Given the description of an element on the screen output the (x, y) to click on. 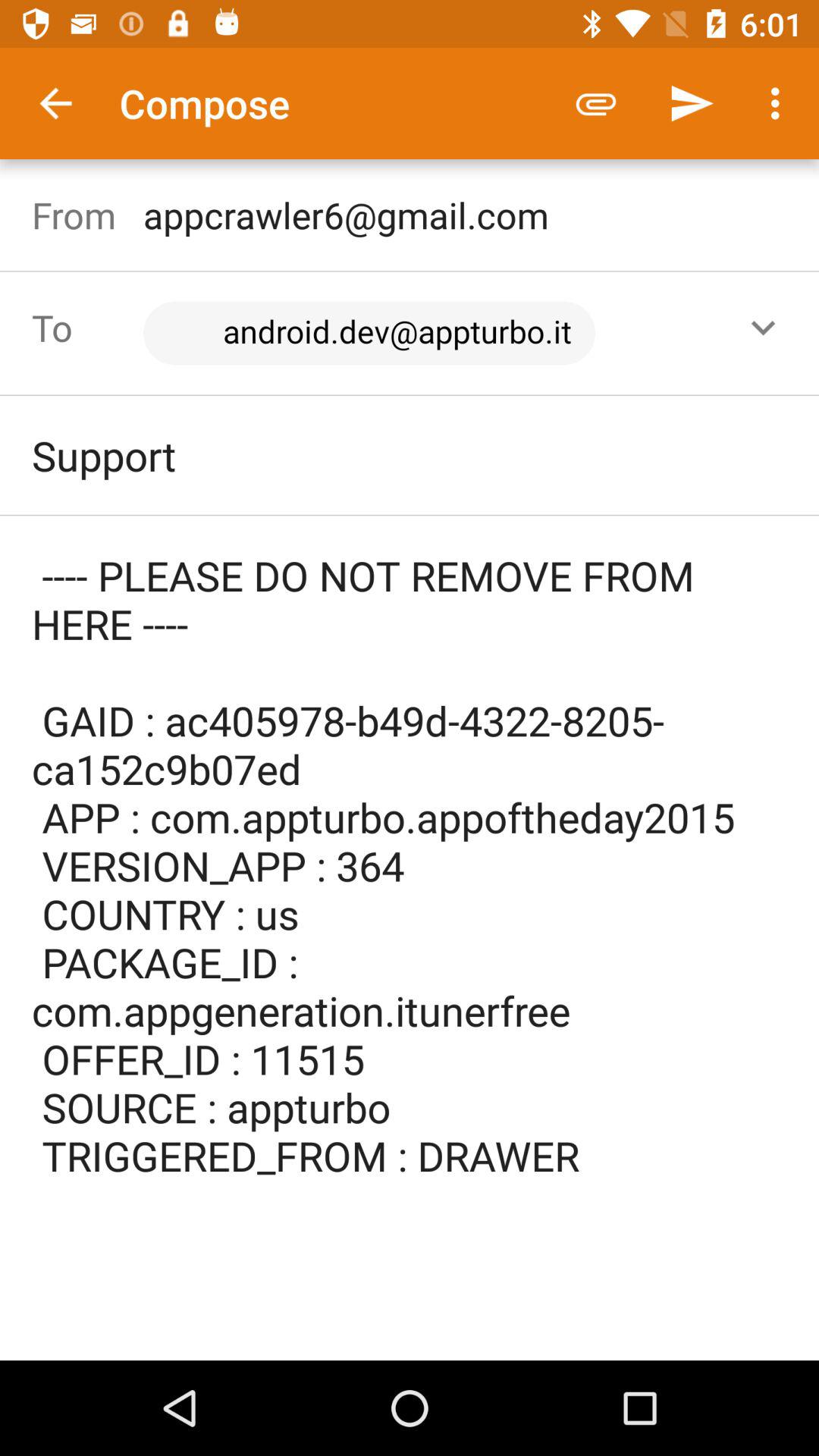
turn on the item next to from item (417, 332)
